Given the description of an element on the screen output the (x, y) to click on. 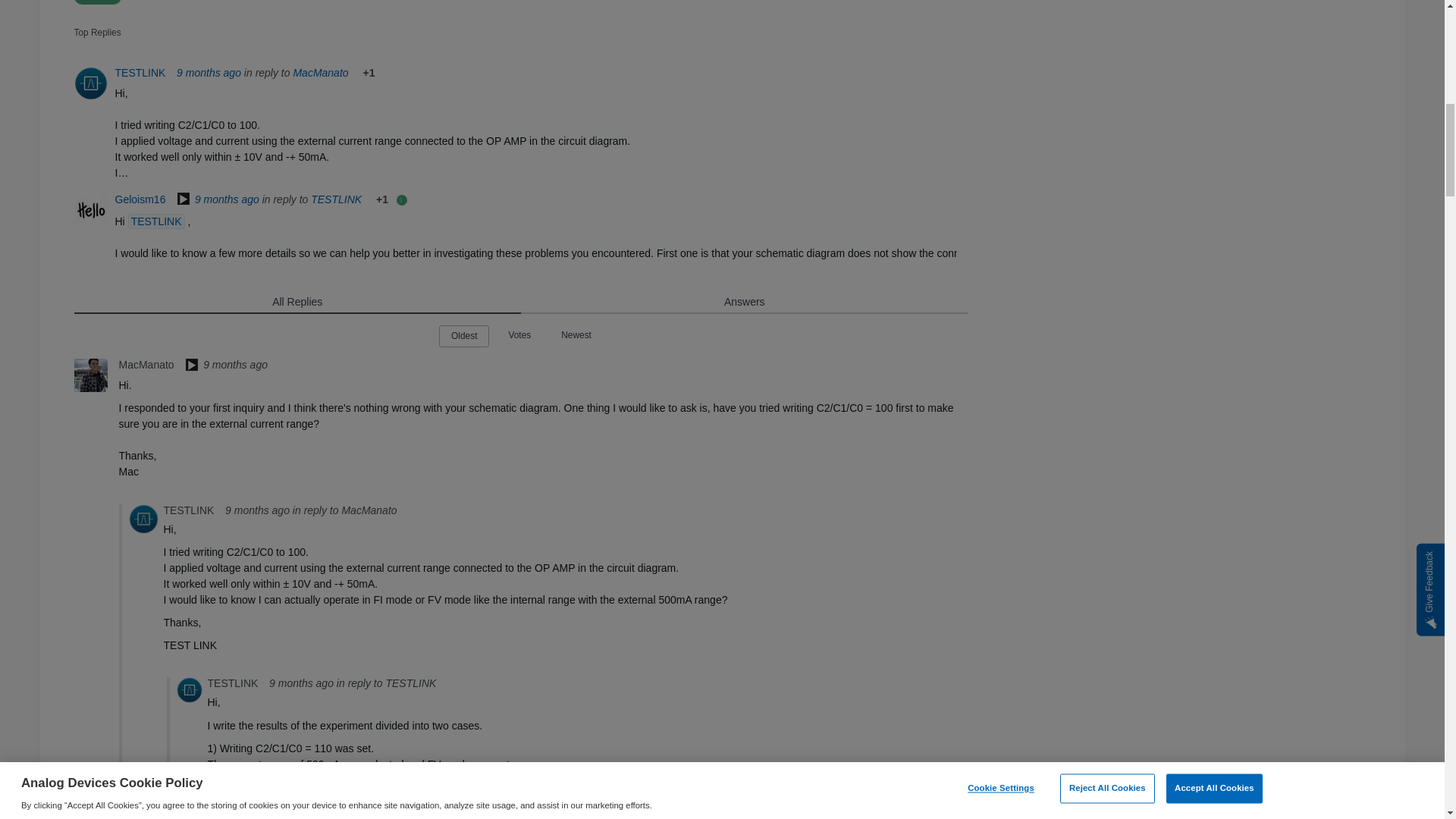
Analog Employees (183, 200)
Analog Employees (191, 365)
